Given the description of an element on the screen output the (x, y) to click on. 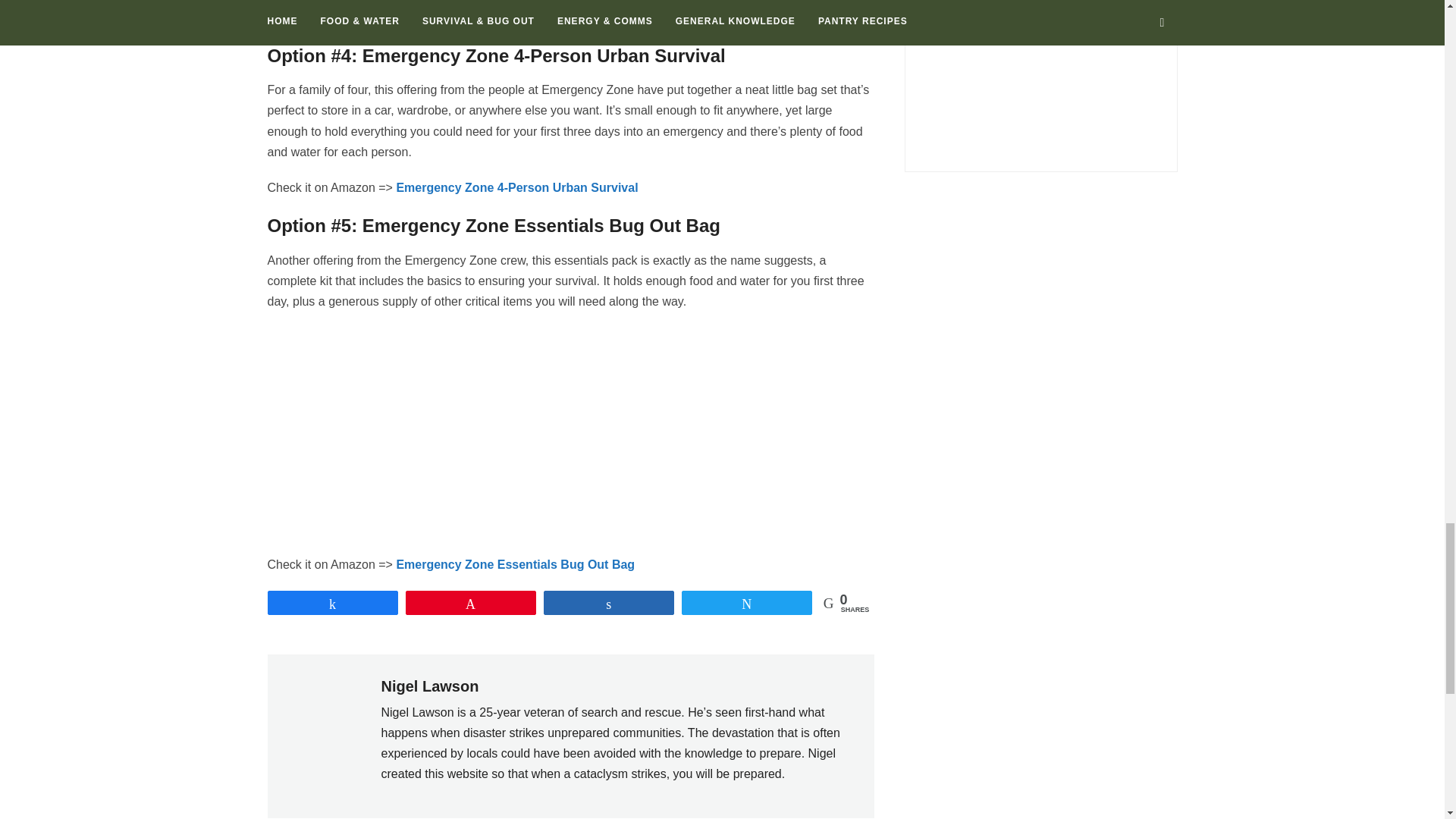
Emergency Zone Essentials Bug Out Bag (515, 563)
Prep Store Elite Plus (455, 16)
Emergency Zone 4-Person Urban Survival (516, 187)
Nigel Lawson (429, 686)
Posts by Nigel Lawson (429, 686)
